Given the description of an element on the screen output the (x, y) to click on. 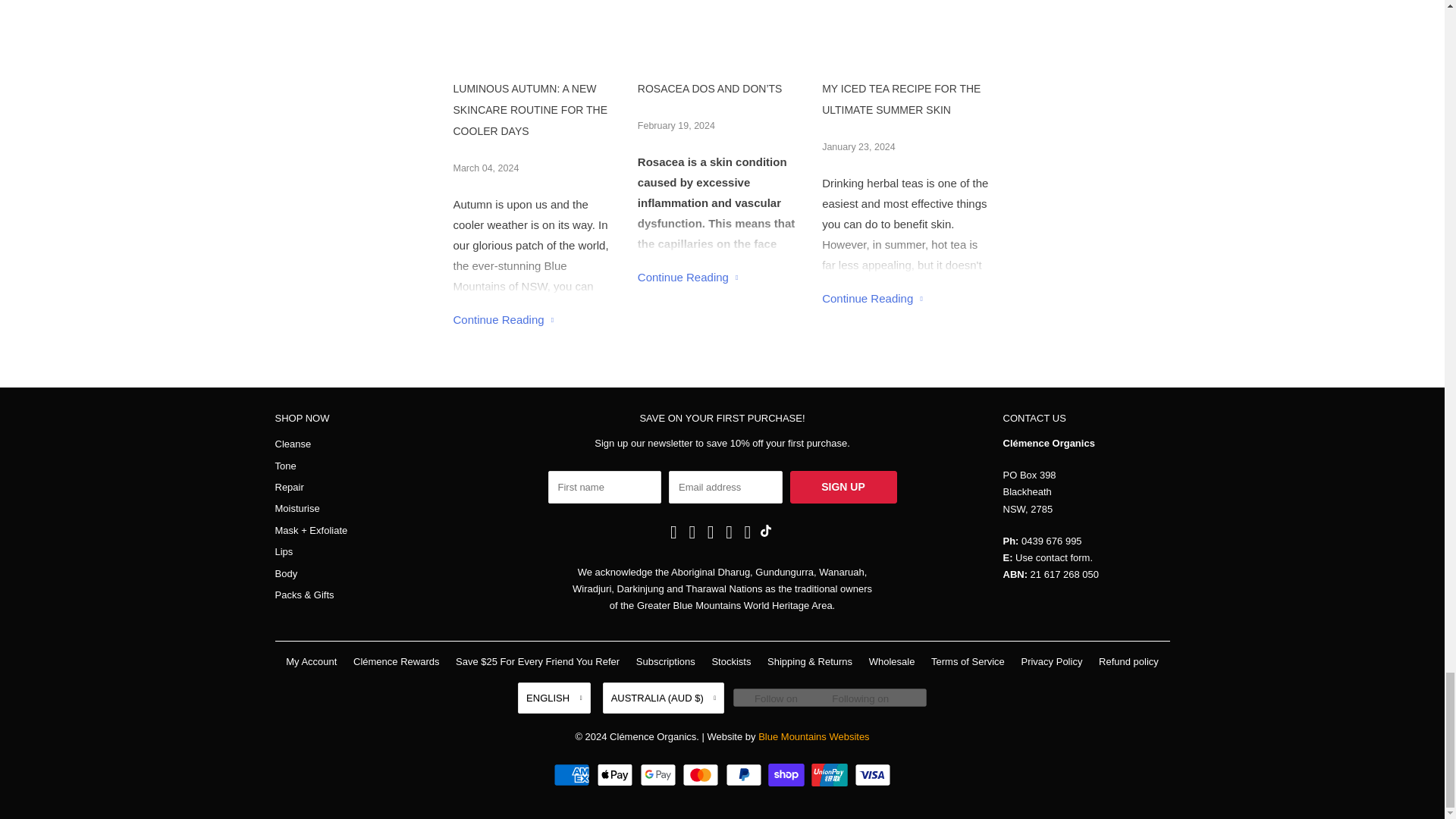
Visa (872, 774)
My iced tea recipe for the ultimate summer skin (906, 23)
Shop Pay (788, 774)
Luminous Autumn: A new skincare routine for the cooler days (537, 109)
Apple Pay (616, 774)
Mastercard (702, 774)
American Express (573, 774)
Google Pay (659, 774)
Luminous Autumn: A new skincare routine for the cooler days (503, 318)
Sign Up (843, 486)
PayPal (745, 774)
My iced tea recipe for the ultimate summer skin (872, 297)
My iced tea recipe for the ultimate summer skin (906, 98)
Luminous Autumn: A new skincare routine for the cooler days (537, 23)
Union Pay (830, 774)
